Given the description of an element on the screen output the (x, y) to click on. 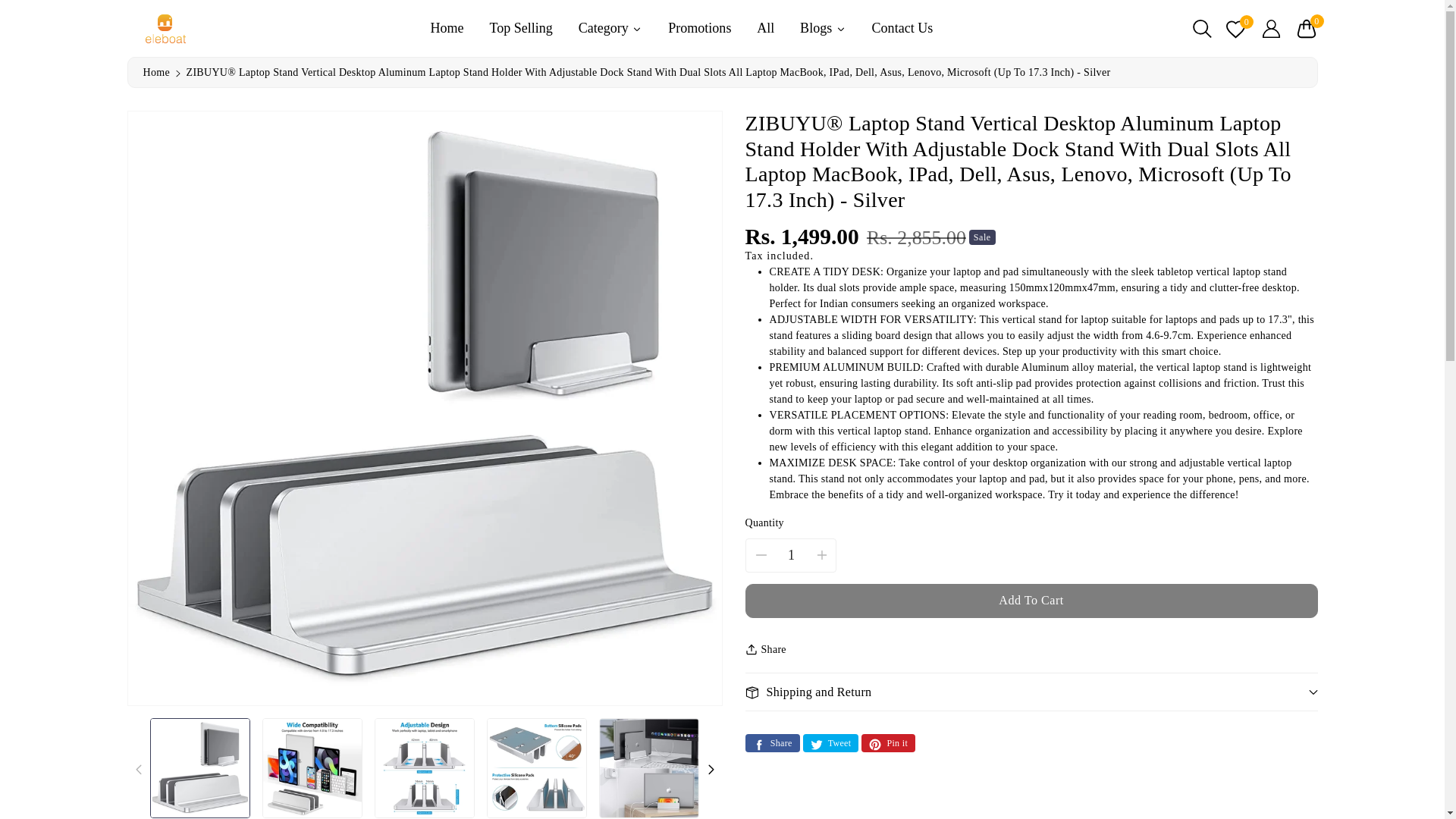
Contact Us (902, 28)
Category (610, 28)
Skip To Content (9, 6)
Blogs (822, 28)
Home (155, 71)
Top Selling (520, 28)
Promotions (699, 28)
1 (791, 554)
